Given the description of an element on the screen output the (x, y) to click on. 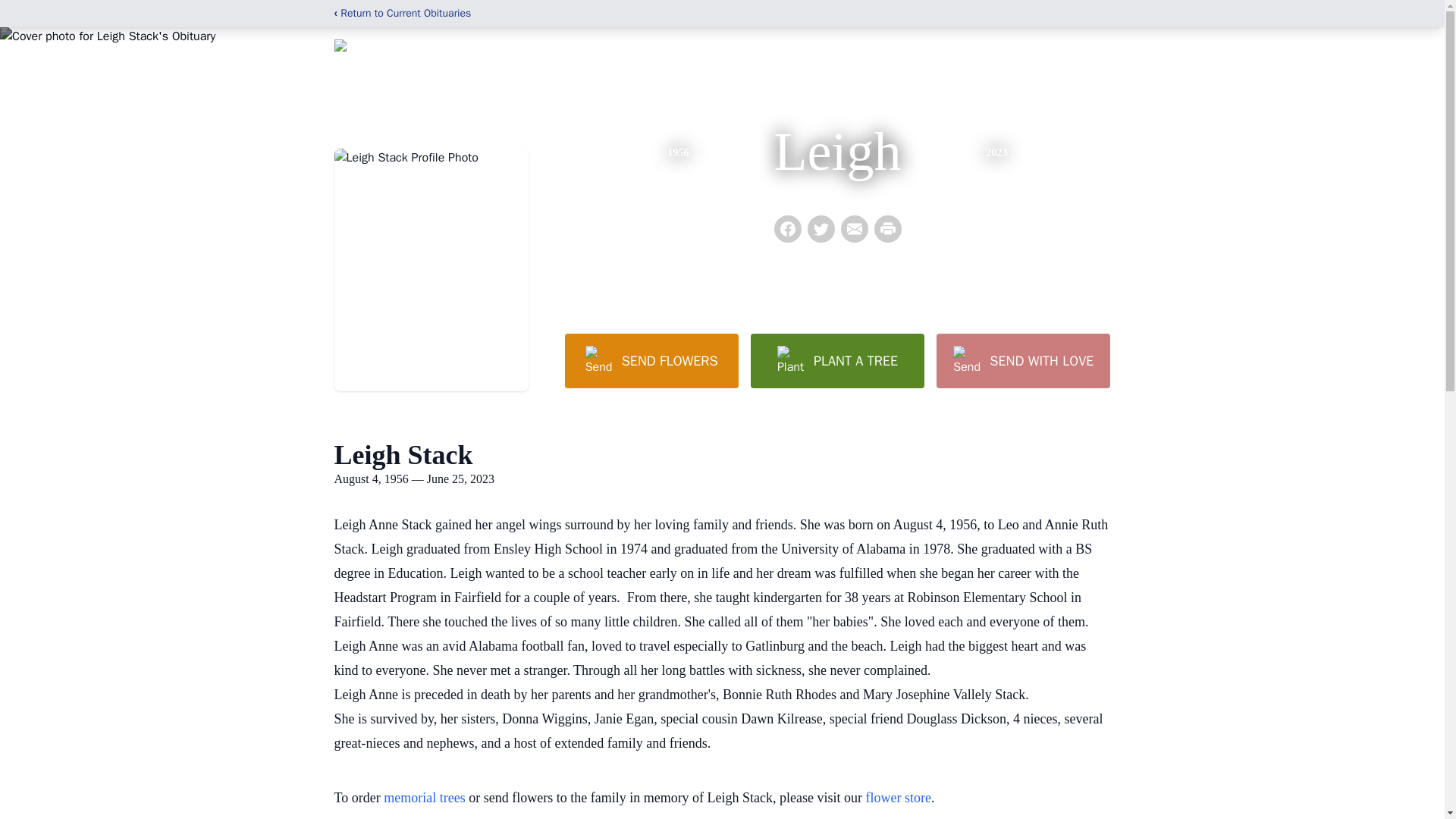
SEND FLOWERS (651, 360)
SEND WITH LOVE (1022, 360)
memorial trees (424, 797)
PLANT A TREE (837, 360)
flower store (898, 797)
